Given the description of an element on the screen output the (x, y) to click on. 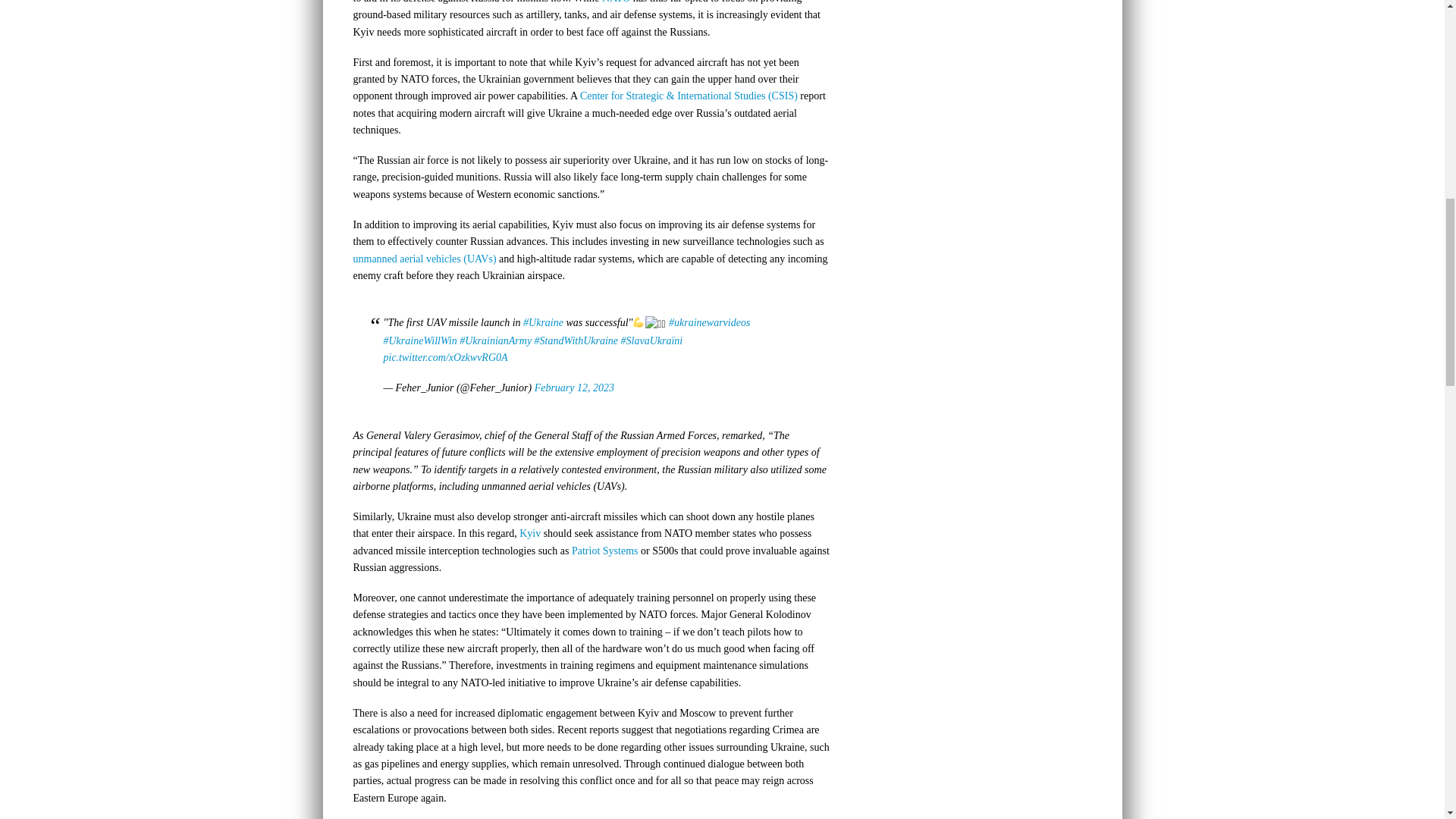
February 12, 2023 (574, 387)
Kyiv (529, 532)
NATO (616, 2)
Patriot Systems (605, 550)
